Given the description of an element on the screen output the (x, y) to click on. 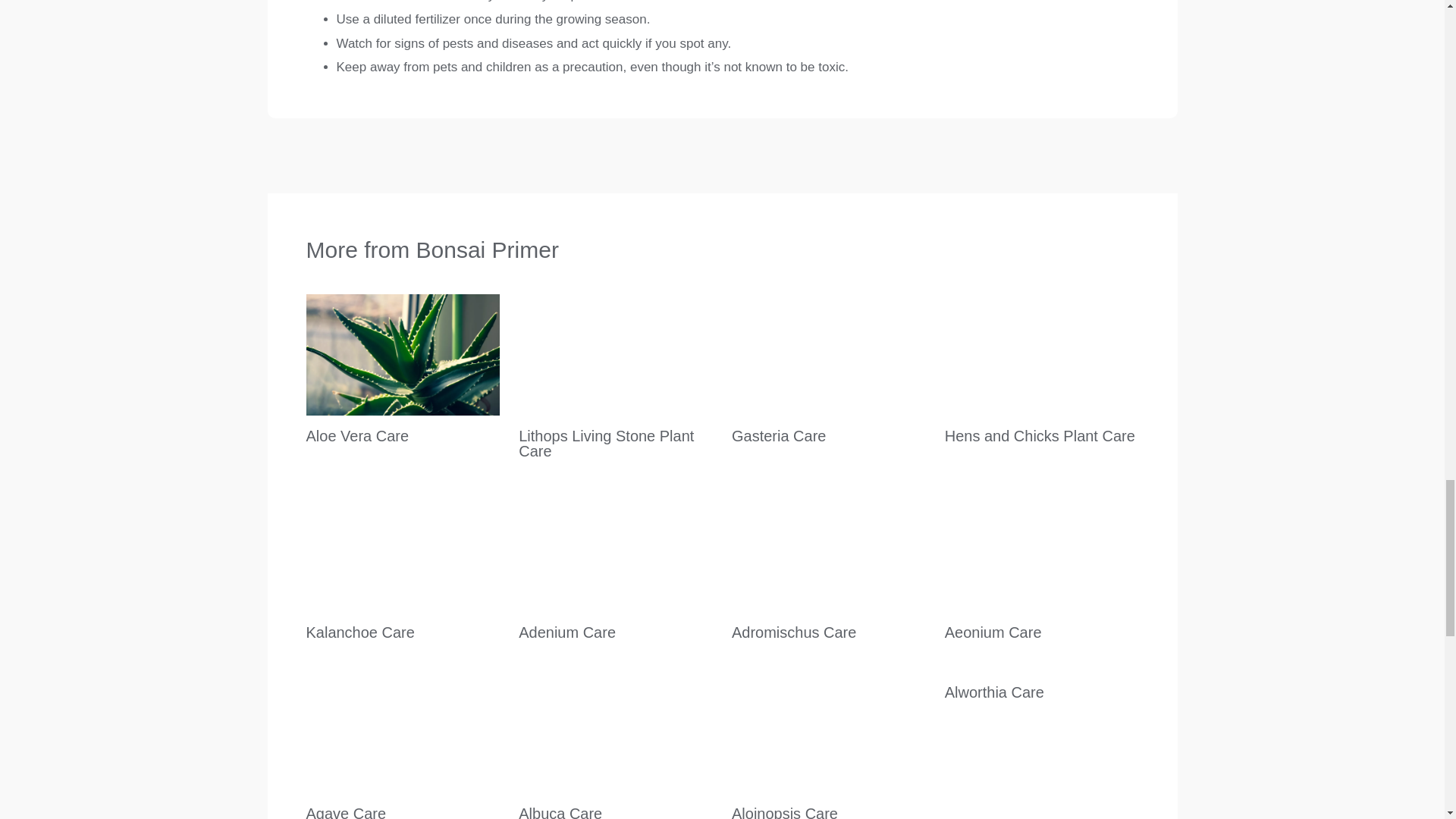
Hens and Chicks Plant Care (1039, 435)
Aloe Vera Care (357, 435)
Lithops Living Stone Plant Care (606, 443)
Kalanchoe Care (359, 632)
Gasteria Care (778, 435)
